Given the description of an element on the screen output the (x, y) to click on. 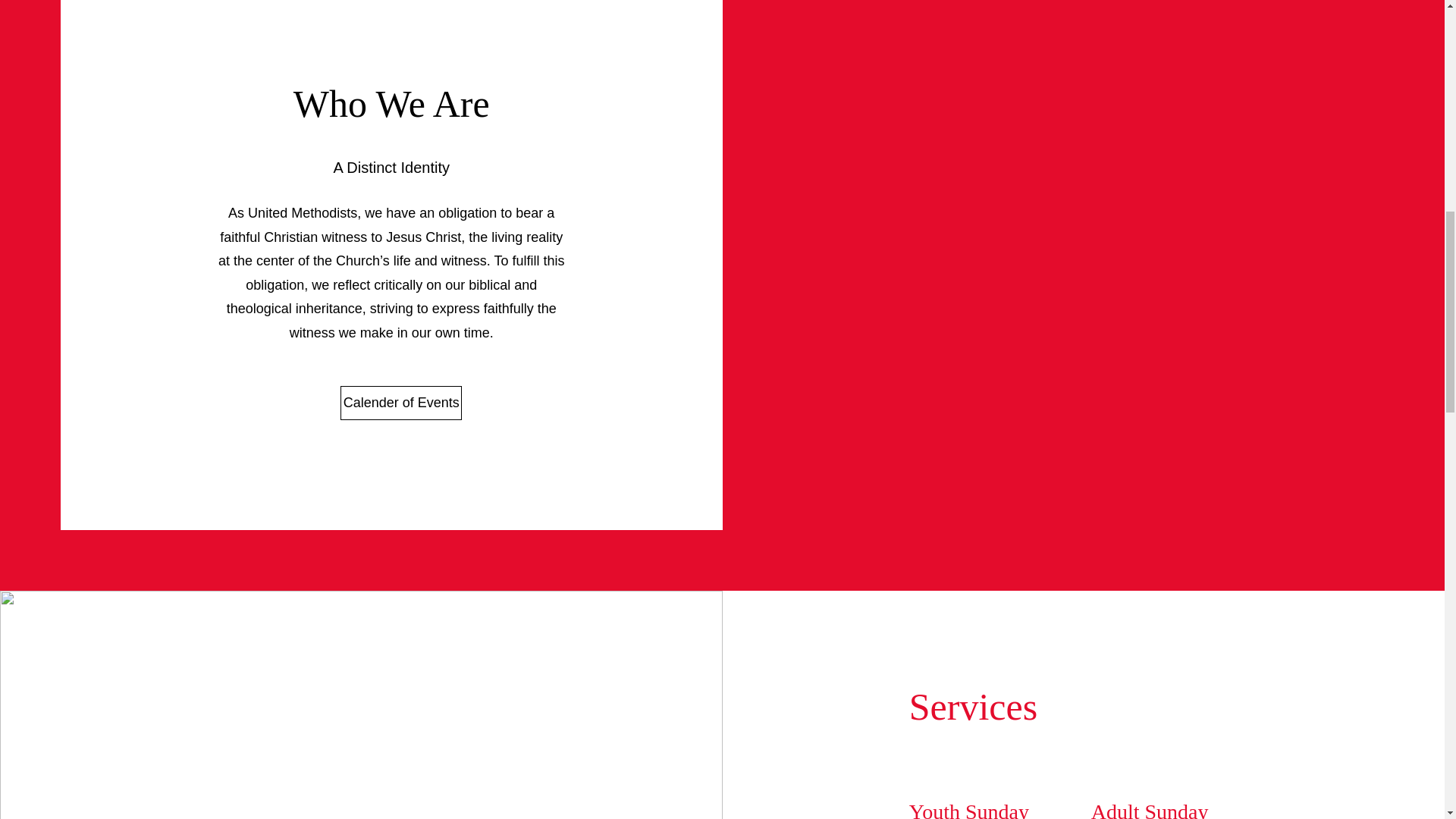
Calender of Events (400, 402)
